Given the description of an element on the screen output the (x, y) to click on. 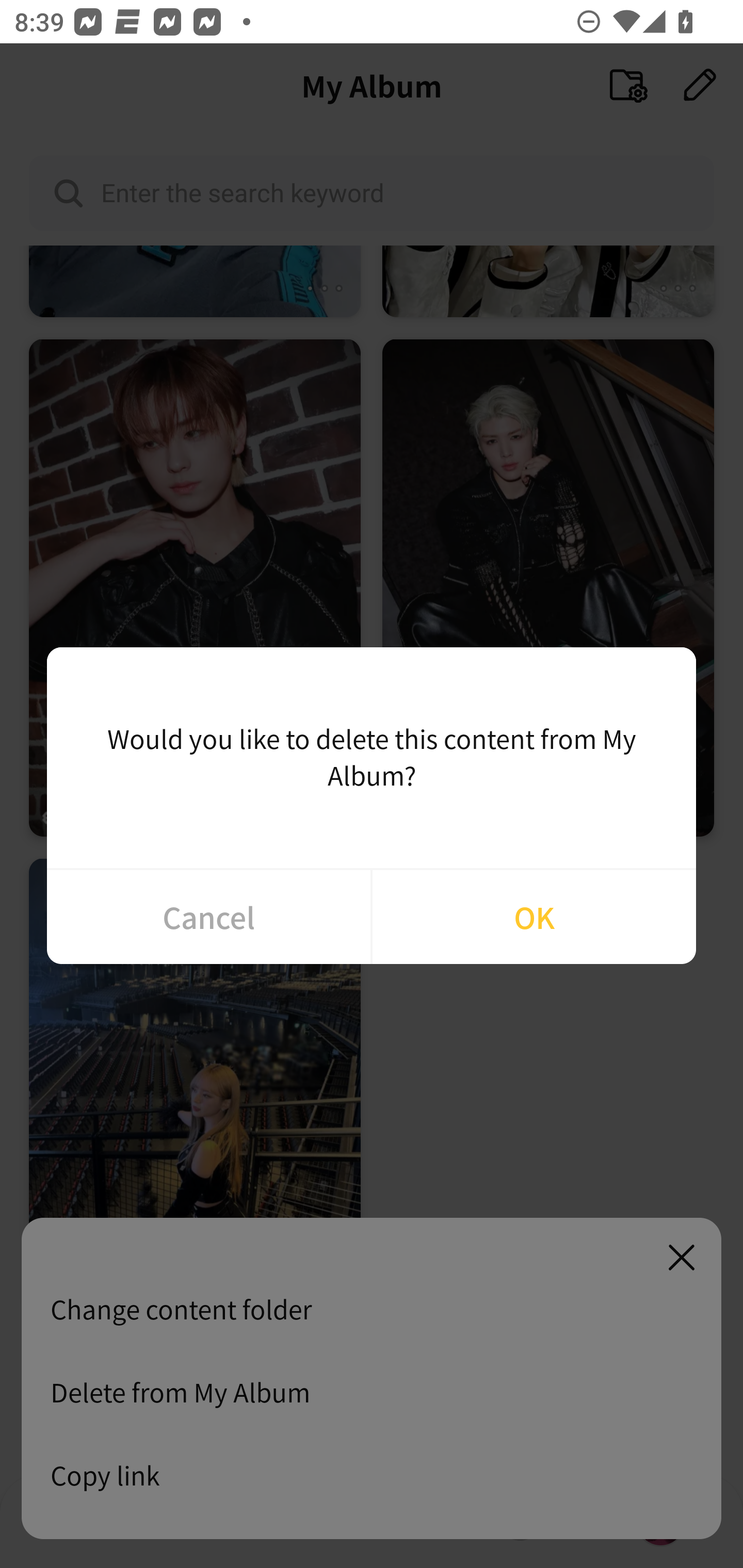
Cancel (208, 917)
OK (534, 917)
